Given the description of an element on the screen output the (x, y) to click on. 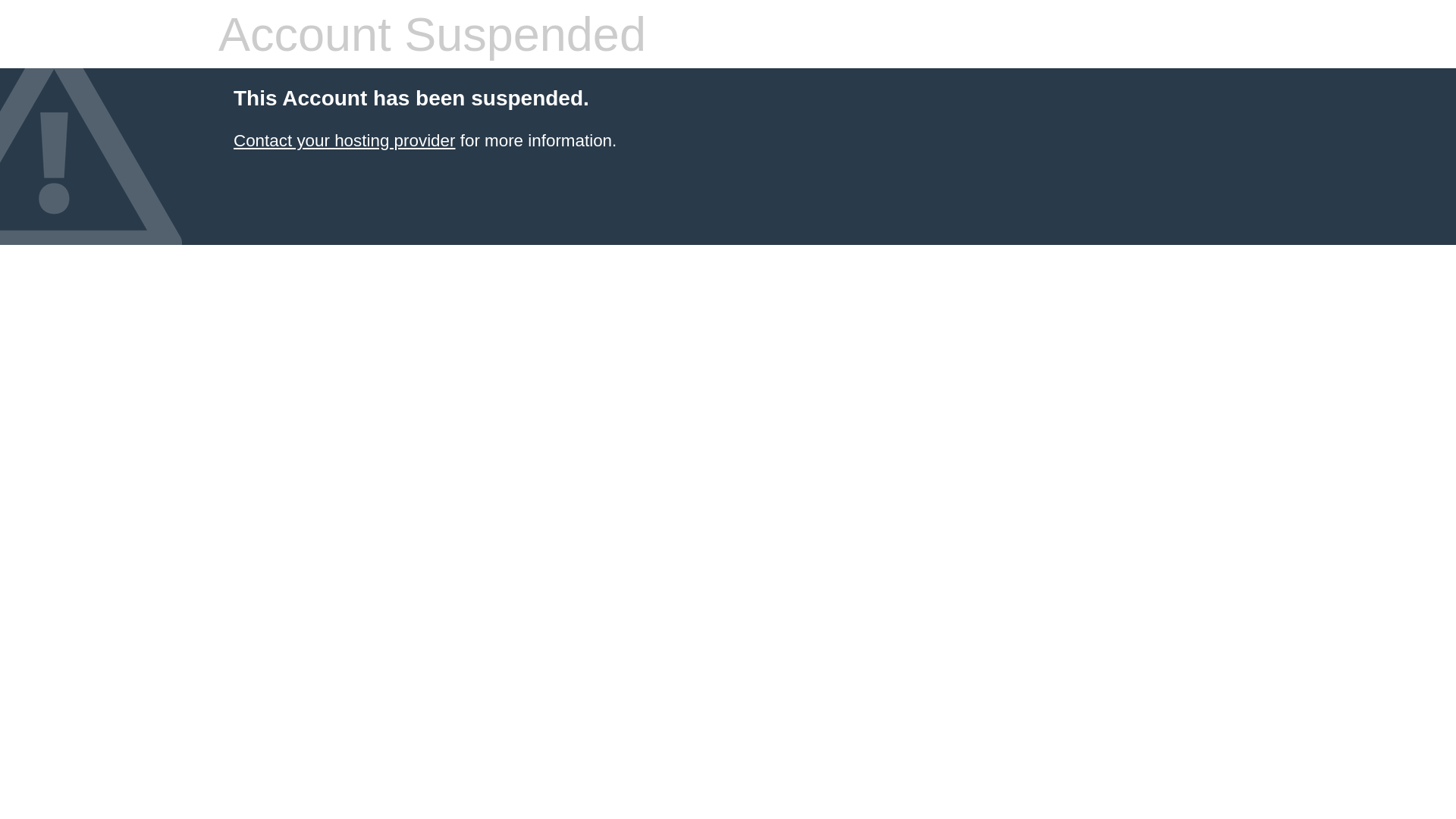
Contact your hosting provider Element type: text (344, 140)
